Given the description of an element on the screen output the (x, y) to click on. 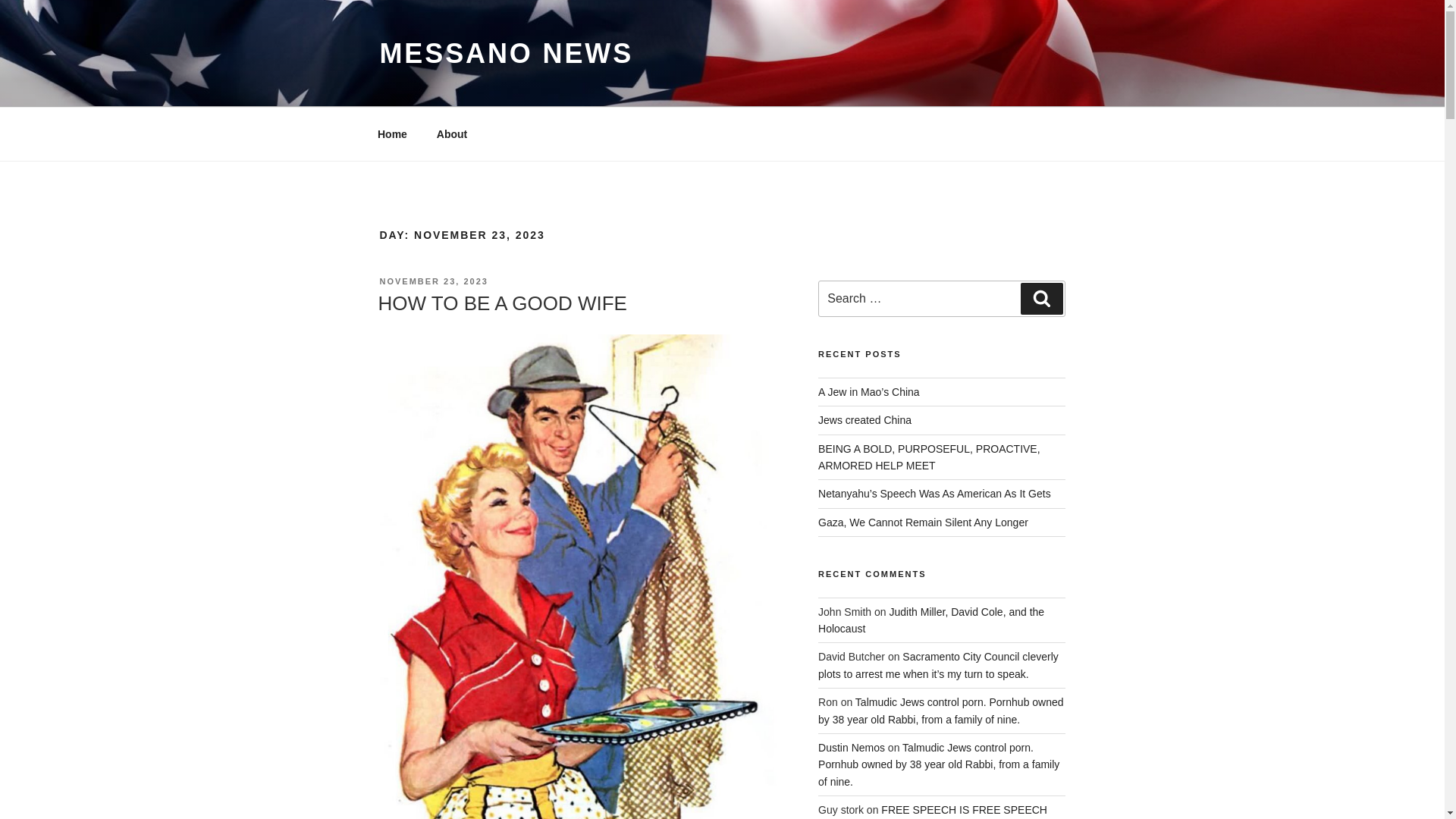
Gaza, We Cannot Remain Silent Any Longer (922, 522)
About (451, 133)
BEING A BOLD, PURPOSEFUL, PROACTIVE, ARMORED HELP MEET (929, 457)
FREE SPEECH IS FREE SPEECH (963, 809)
Judith Miller, David Cole, and the Holocaust  (930, 620)
Jews created China (864, 419)
MESSANO NEWS (505, 52)
HOW TO BE A GOOD WIFE (501, 302)
Home (392, 133)
Dustin Nemos (851, 747)
NOVEMBER 23, 2023 (432, 280)
Search (1041, 298)
